Given the description of an element on the screen output the (x, y) to click on. 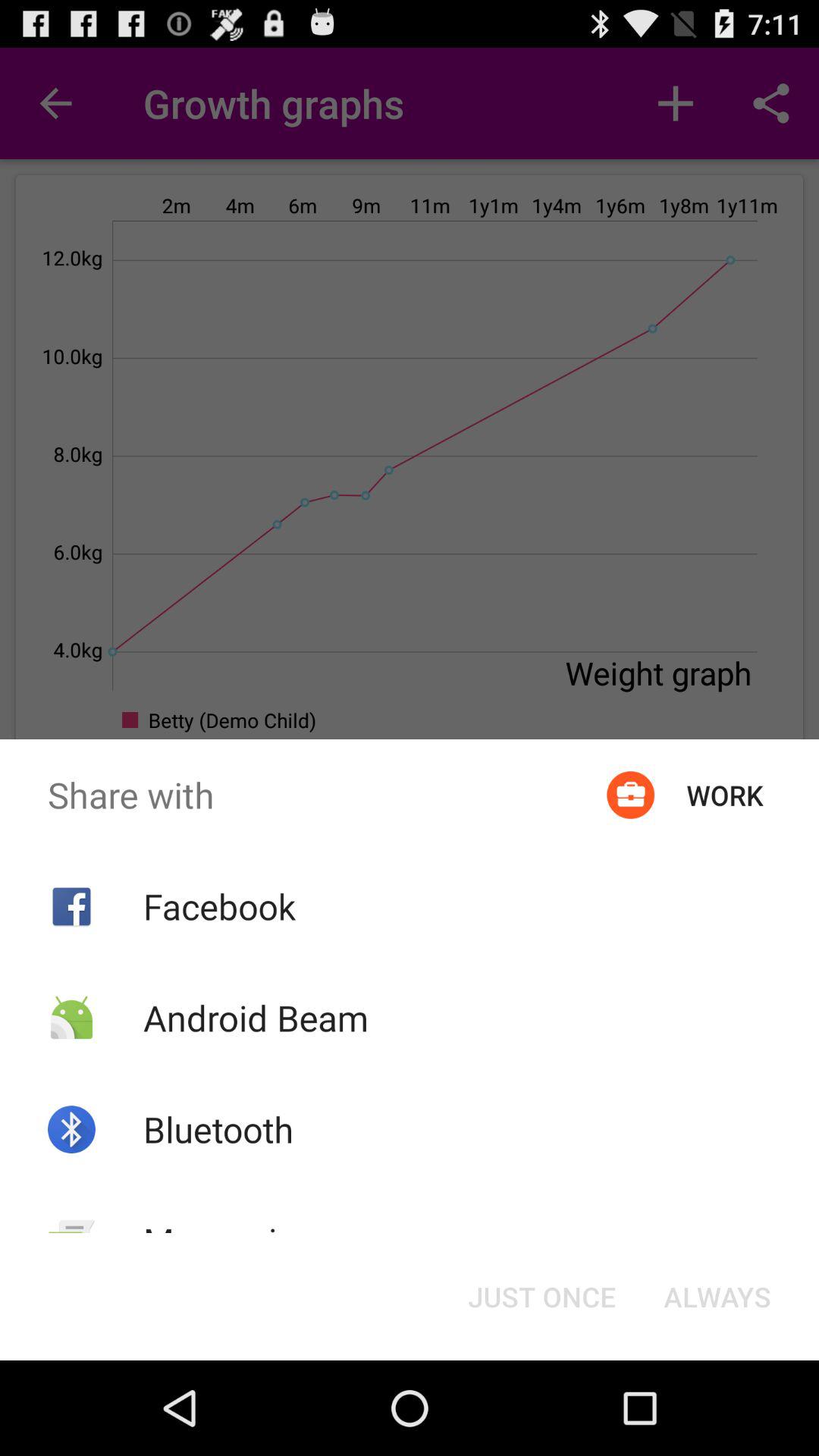
launch button to the right of just once (717, 1296)
